Given the description of an element on the screen output the (x, y) to click on. 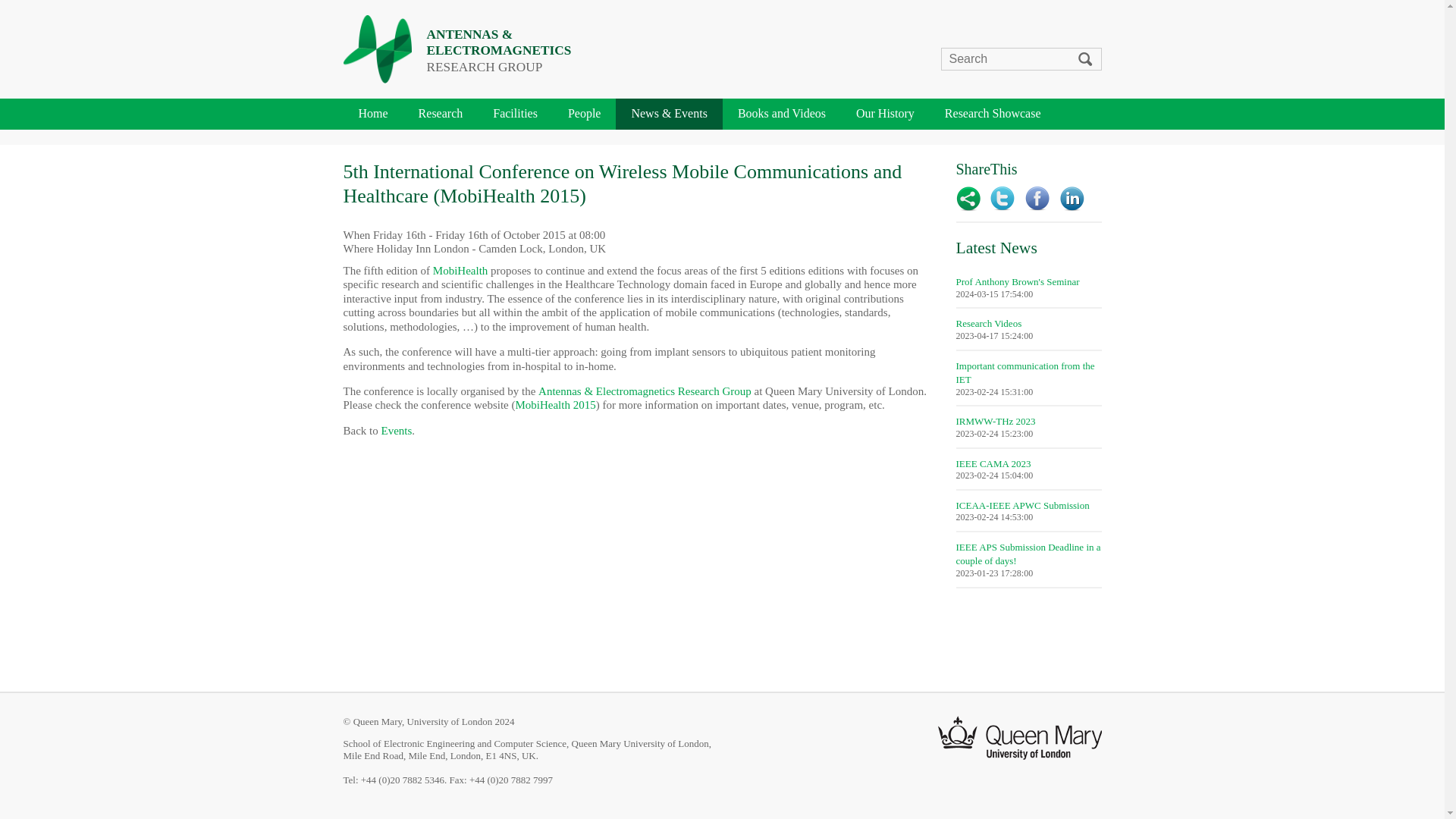
Research Showcase (993, 113)
Books and Videos (781, 113)
Our History (885, 113)
Facilities (515, 113)
People (584, 113)
Events (396, 430)
Research (441, 113)
Home (372, 113)
